Given the description of an element on the screen output the (x, y) to click on. 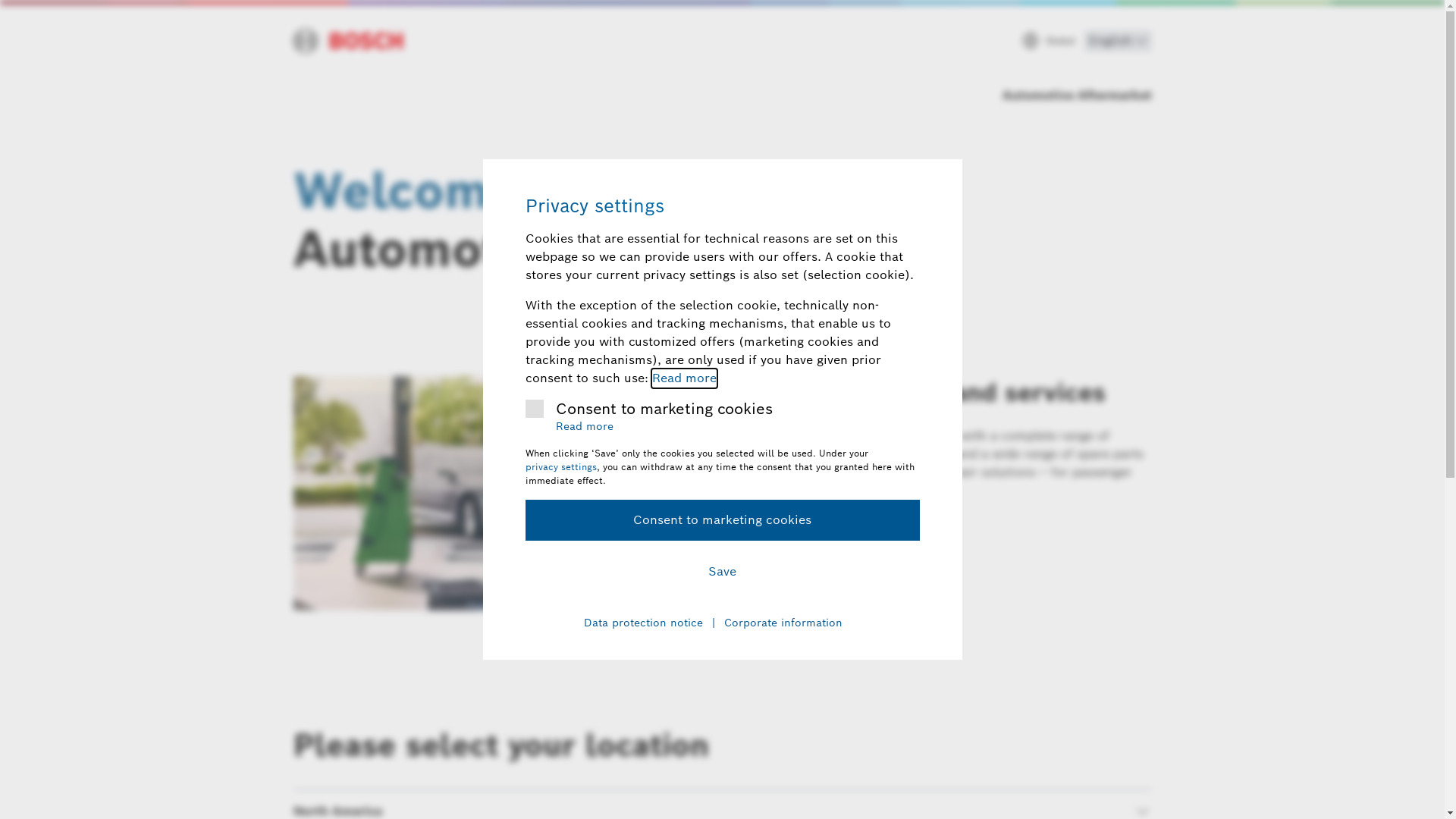
Consent to marketing cookies Element type: text (721, 519)
Save Element type: text (721, 571)
privacy settings Element type: text (560, 466)
Read more Element type: text (684, 378)
Data protection notice Element type: text (642, 622)
Read more Element type: text (583, 426)
Corporate information Element type: text (783, 622)
